Given the description of an element on the screen output the (x, y) to click on. 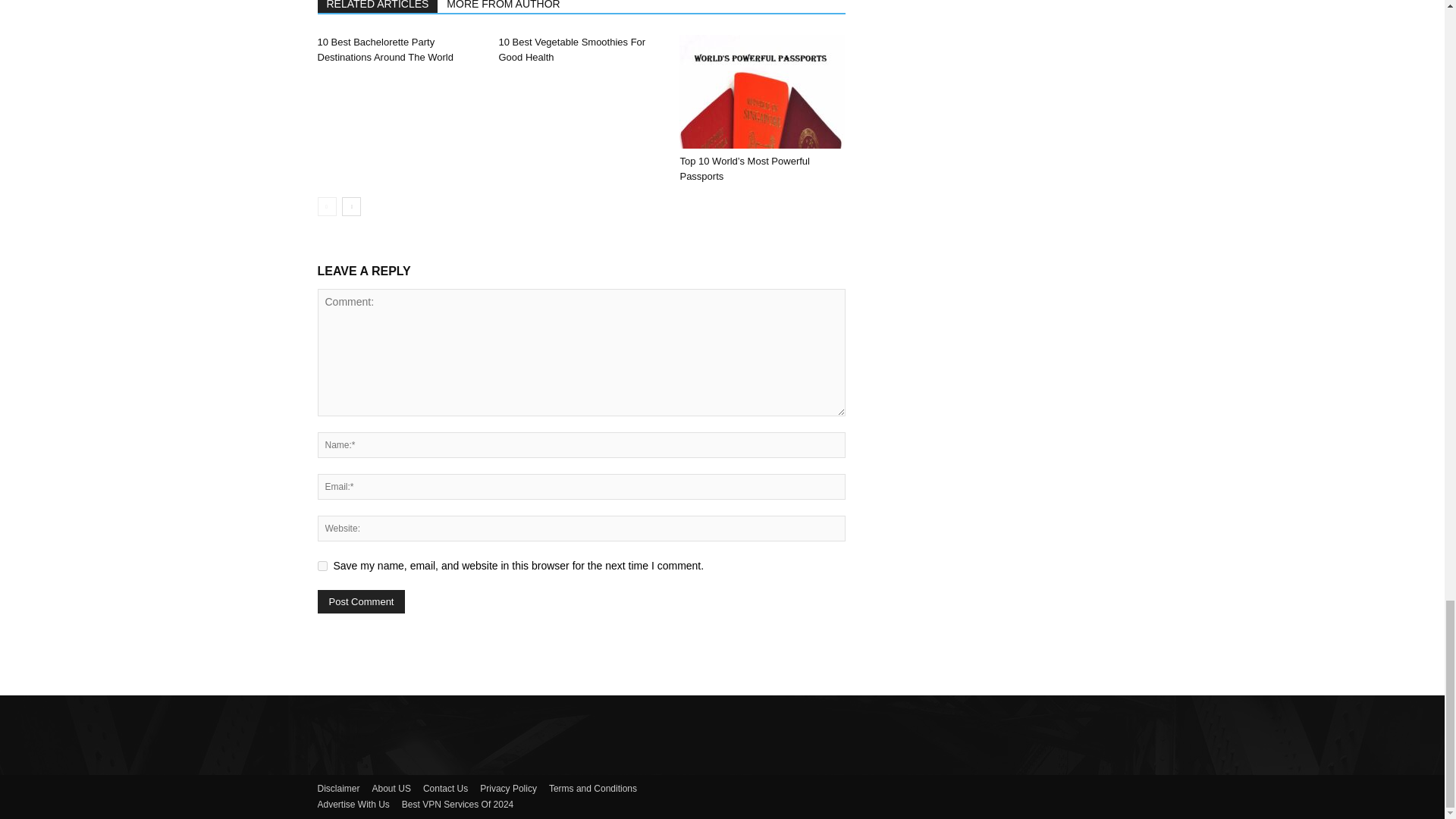
RELATED ARTICLES (377, 6)
yes (321, 565)
Post Comment (360, 601)
MORE FROM AUTHOR (503, 6)
